Given the description of an element on the screen output the (x, y) to click on. 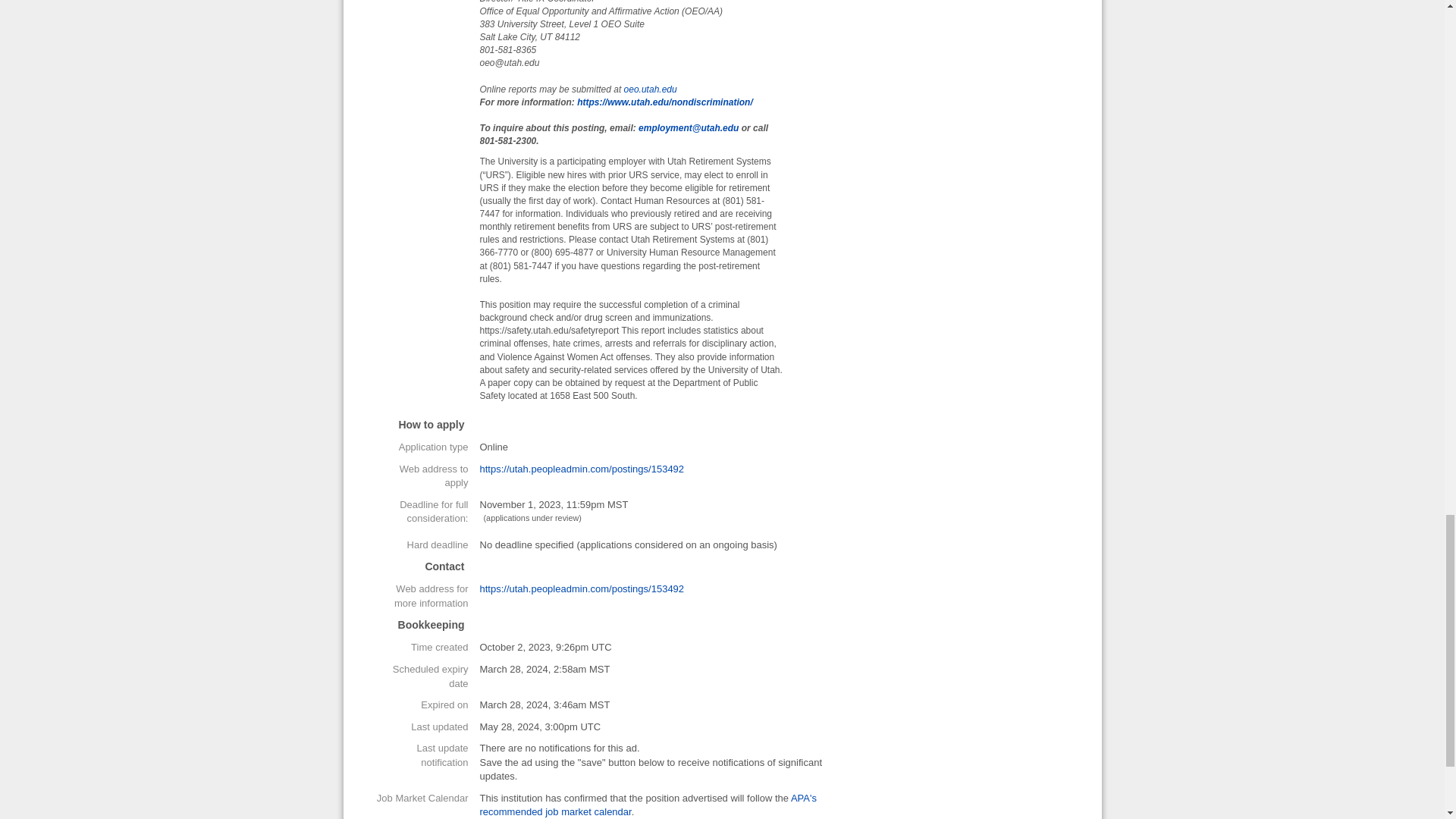
oeo.utah.edu (650, 89)
APA's recommended job market calendar (647, 805)
